Given the description of an element on the screen output the (x, y) to click on. 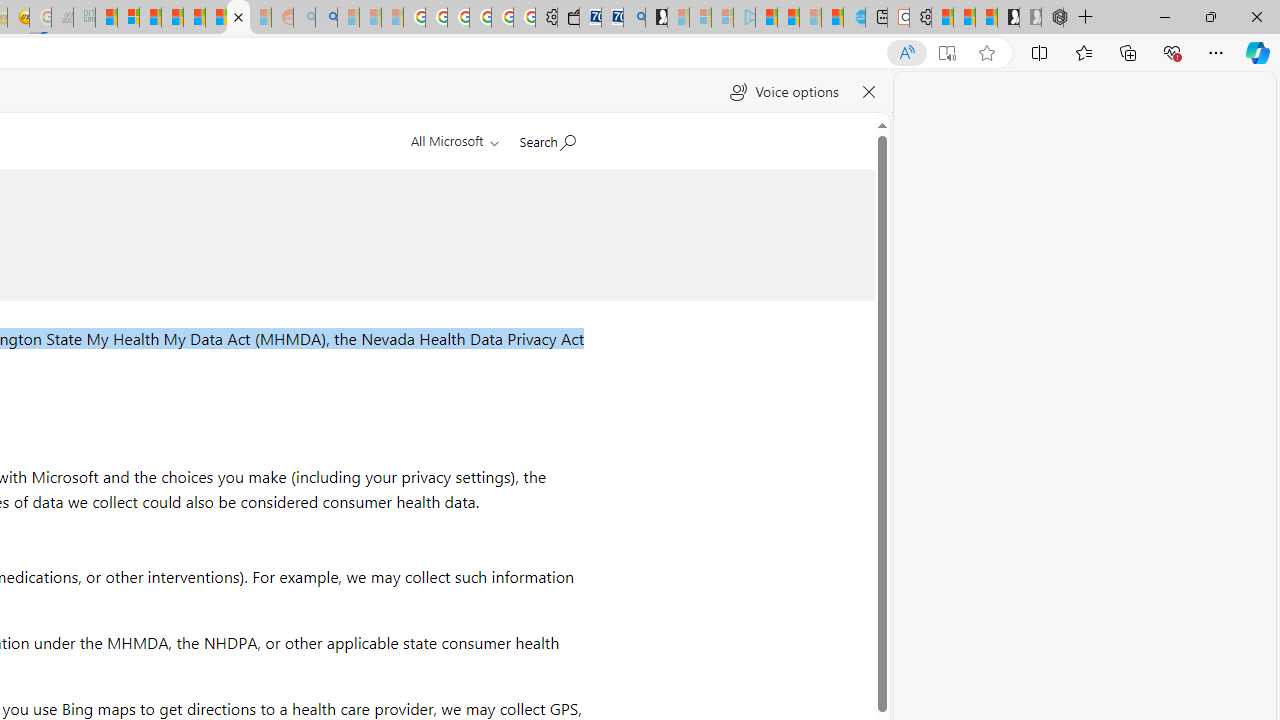
Microsoft account | Privacy (128, 17)
Student Loan Update: Forgiveness Program Ends This Month (172, 17)
DITOGAMES AG Imprint - Sleeping (84, 17)
Cheap Car Rentals - Save70.com (612, 17)
Nordace - Nordace Siena Is Not An Ordinary Backpack (1052, 17)
